Given the description of an element on the screen output the (x, y) to click on. 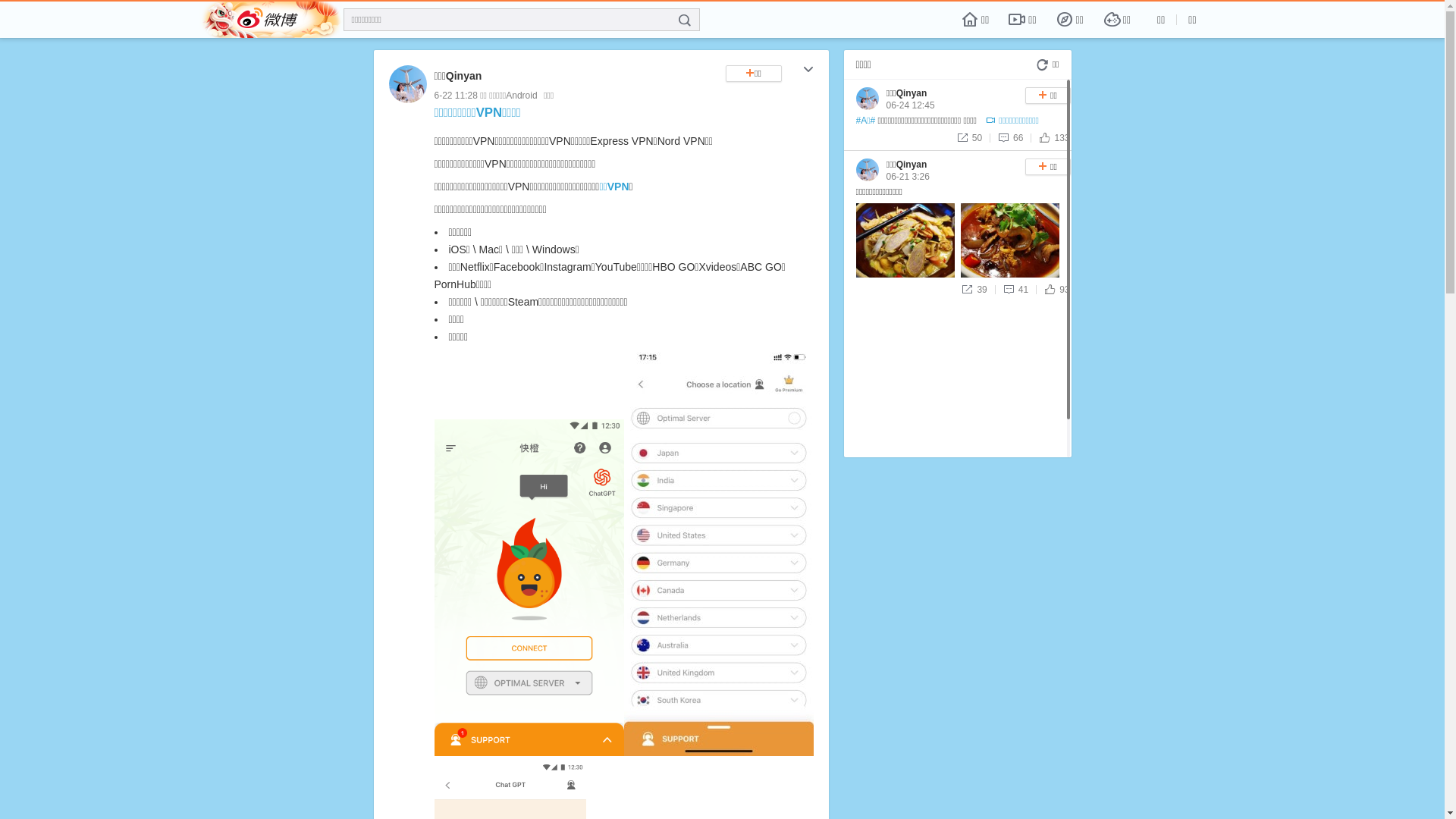
6-22 11:28 Element type: text (454, 95)
f Element type: text (684, 20)
06-24 12:45 Element type: text (909, 105)
c Element type: text (808, 70)
06-21 3:26 Element type: text (906, 176)
